Given the description of an element on the screen output the (x, y) to click on. 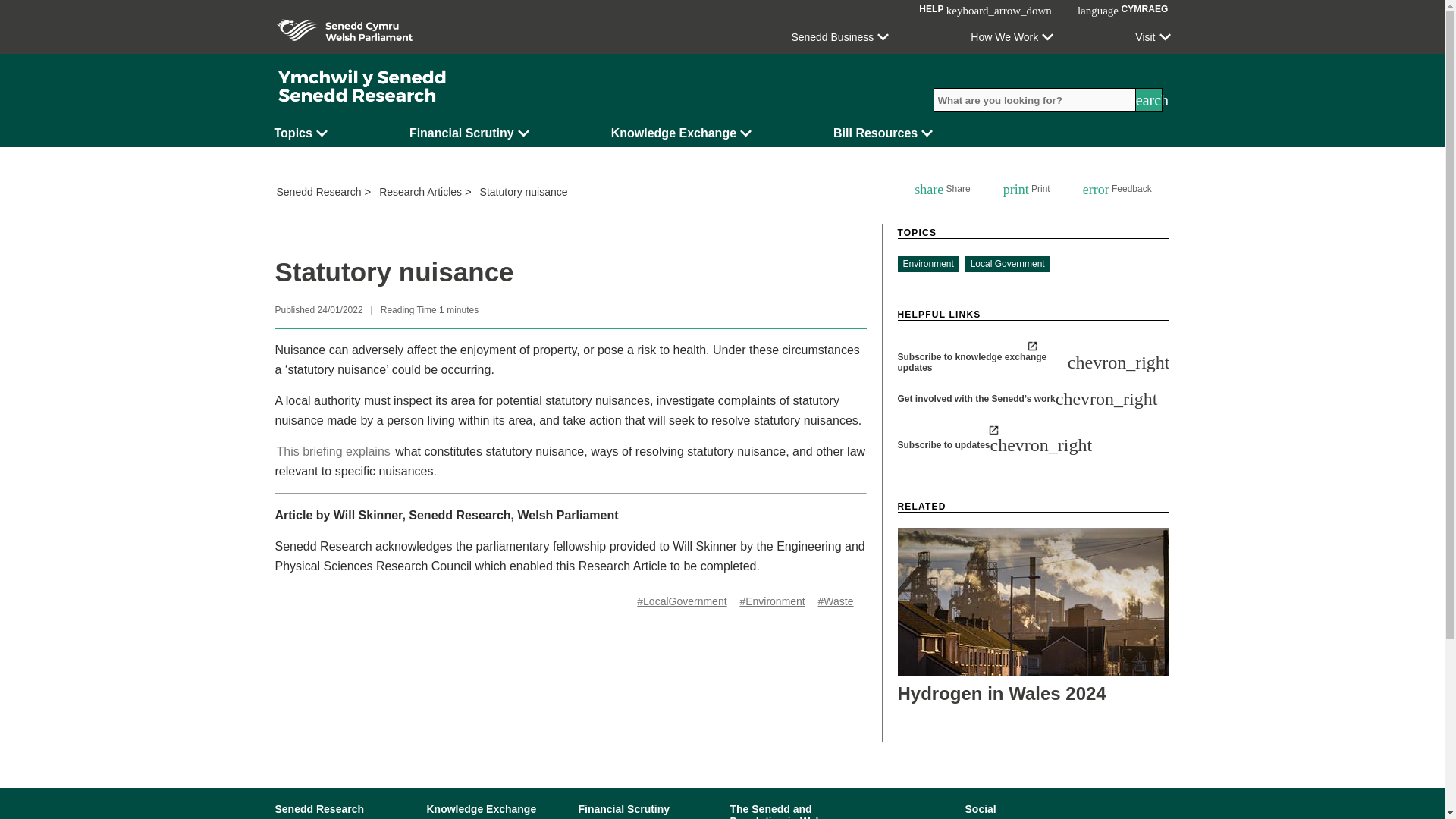
Senedd Business (839, 36)
language CYMRAEG (1122, 8)
Statutory Nuisance (333, 451)
